Given the description of an element on the screen output the (x, y) to click on. 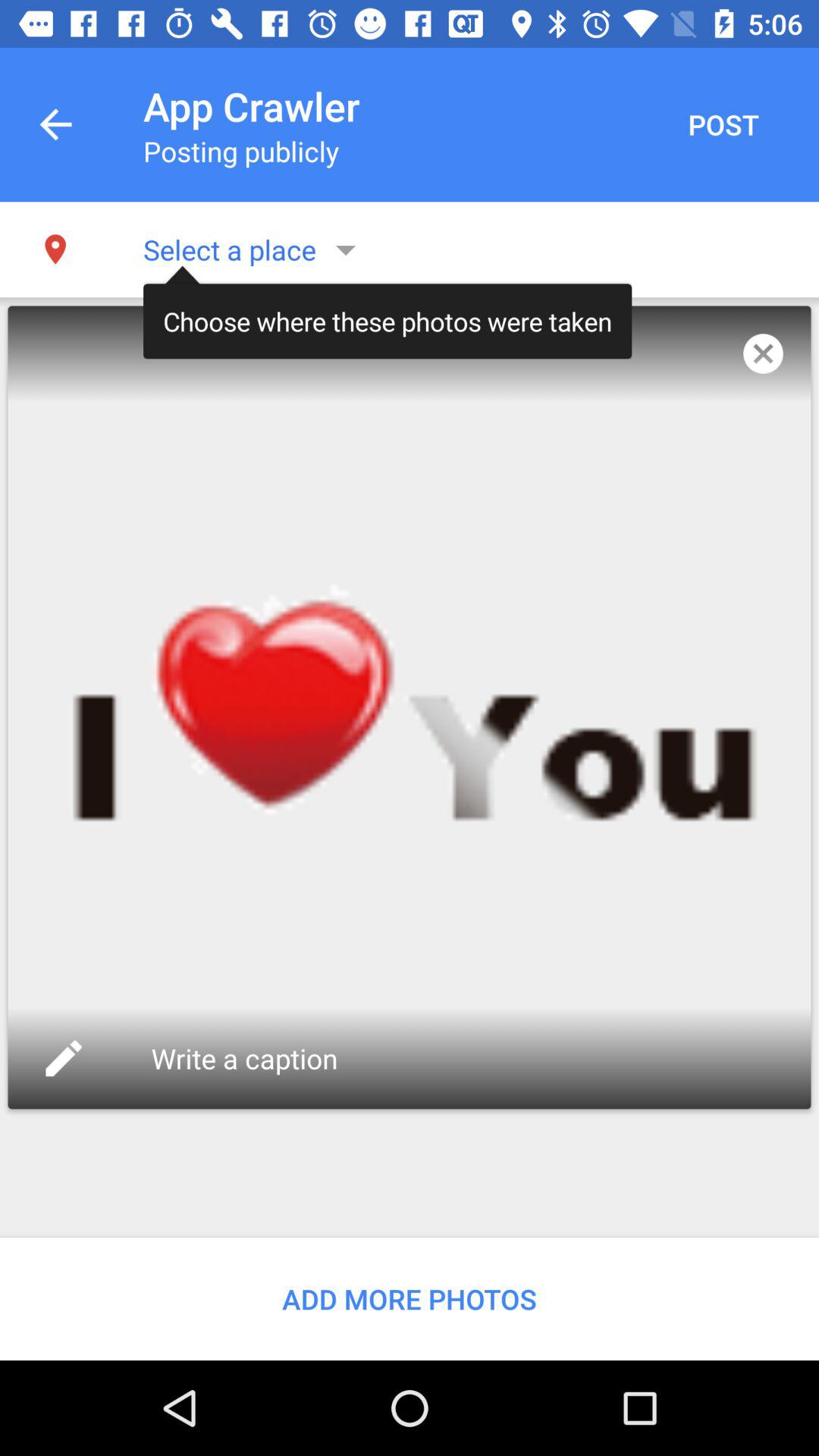
open the icon next to the app crawler item (723, 124)
